Given the description of an element on the screen output the (x, y) to click on. 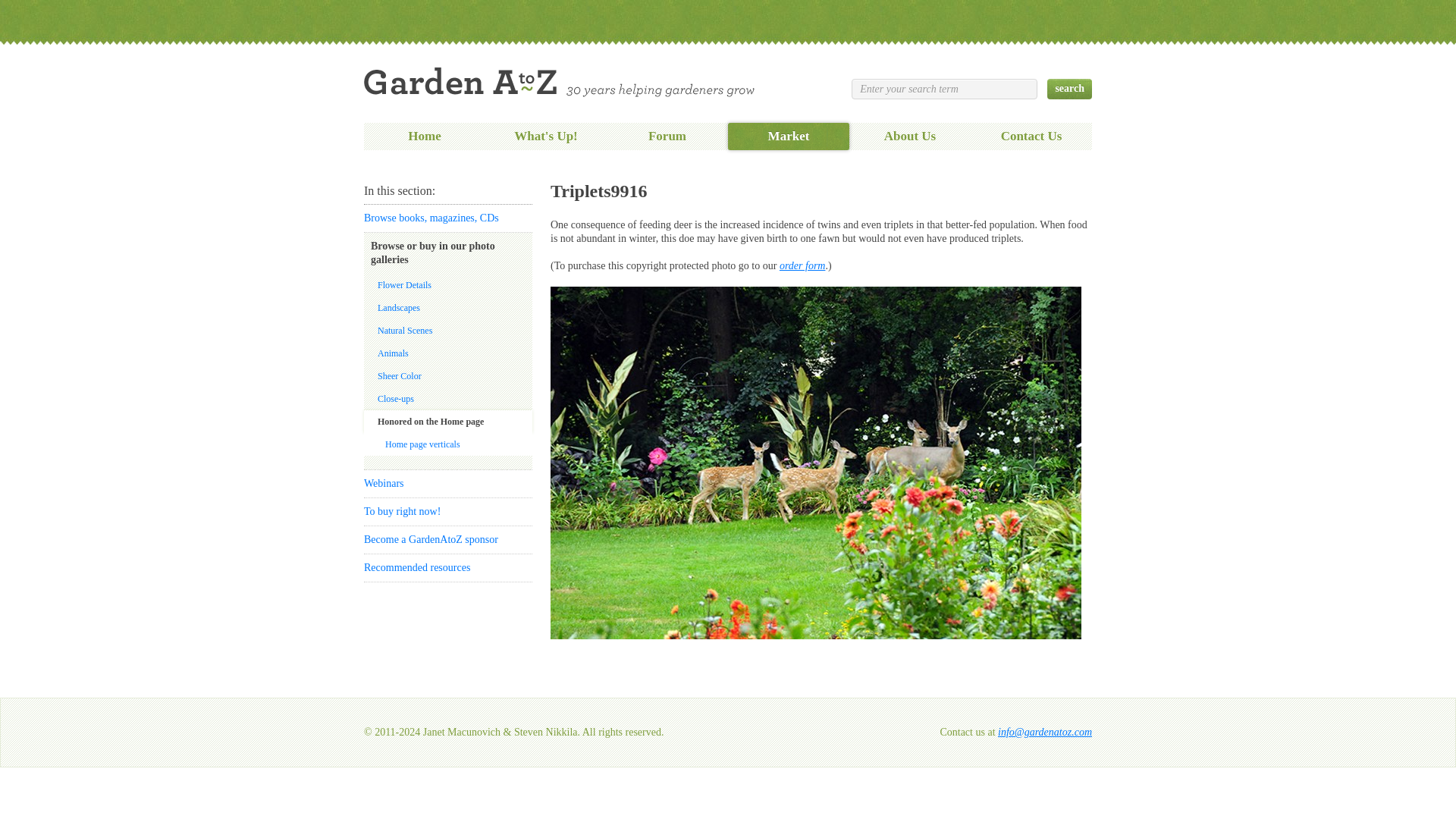
Webinars (448, 483)
Browse or buy in our photo galleries (448, 252)
To buy right now! (801, 265)
Honored on the Home page (448, 421)
Landscapes (448, 307)
search (1069, 88)
Become a GardenAtoZ sponsor (448, 539)
Flower Details (448, 284)
What's Up! (545, 135)
Welcome to Garden A to Z (559, 82)
Market (788, 135)
Recommended resources (448, 567)
Home page verticals (448, 444)
Close-ups (448, 398)
Animals (448, 353)
